Given the description of an element on the screen output the (x, y) to click on. 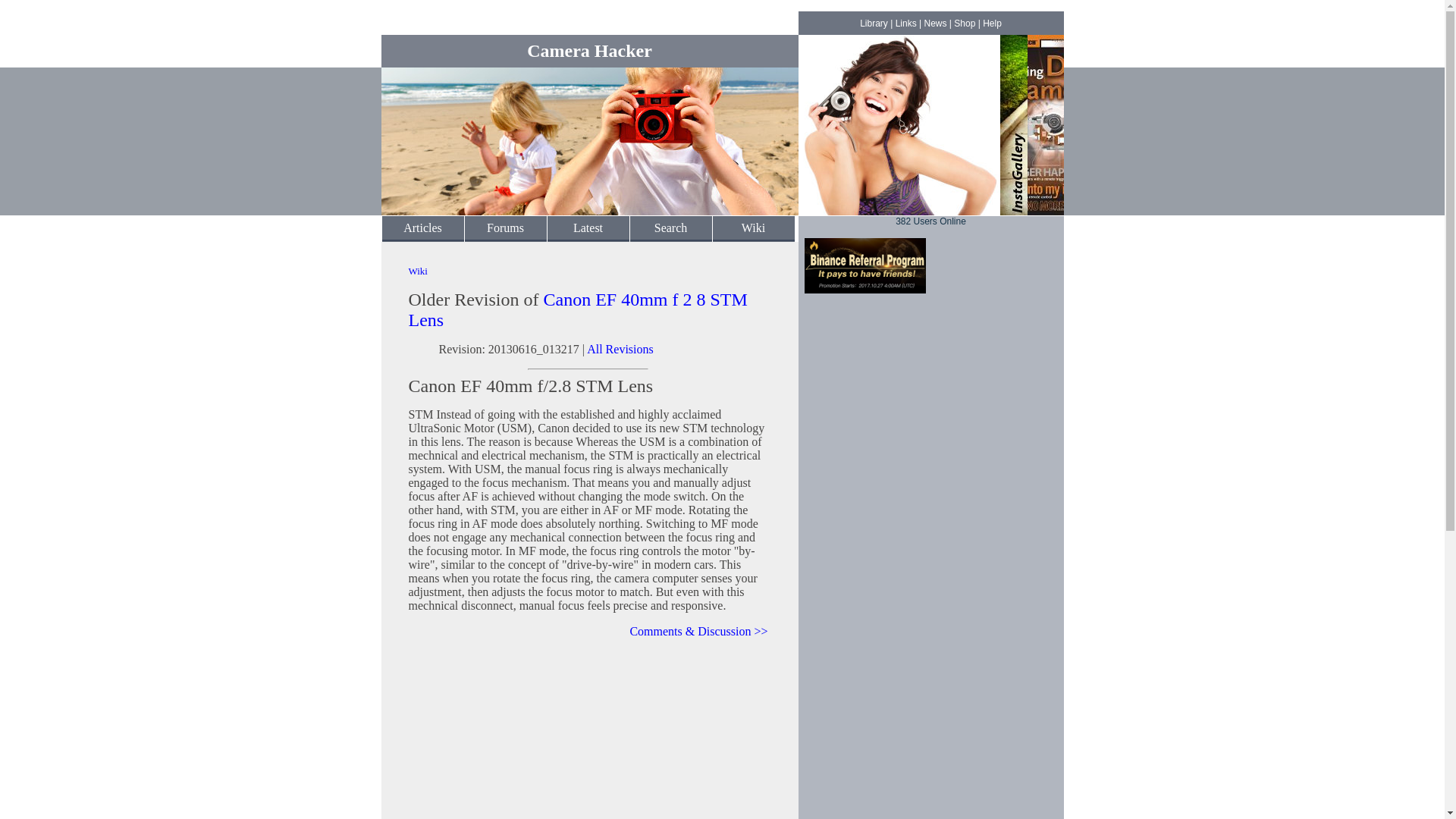
Links (906, 23)
Shop (964, 23)
Latest (587, 227)
All Revisions (619, 349)
Search (670, 227)
Wiki (753, 227)
Camera Hacker (589, 50)
Help (991, 23)
Library (874, 23)
Articles (422, 227)
Forums (505, 227)
News (934, 23)
Wiki (416, 270)
Canon EF 40mm f 2 8 STM Lens (576, 309)
